Given the description of an element on the screen output the (x, y) to click on. 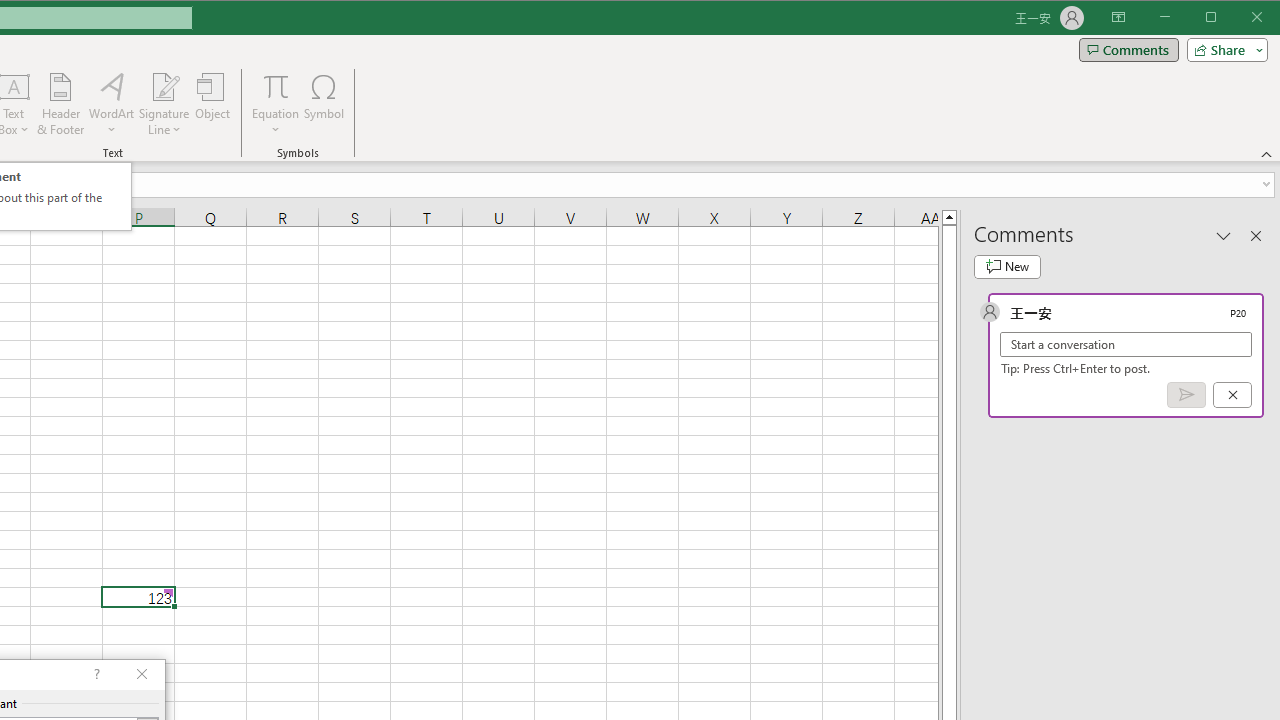
Start a conversation (1126, 344)
Signature Line (164, 104)
Object... (213, 104)
Symbol... (324, 104)
WordArt (111, 104)
New comment (1007, 266)
Header & Footer... (60, 104)
